Given the description of an element on the screen output the (x, y) to click on. 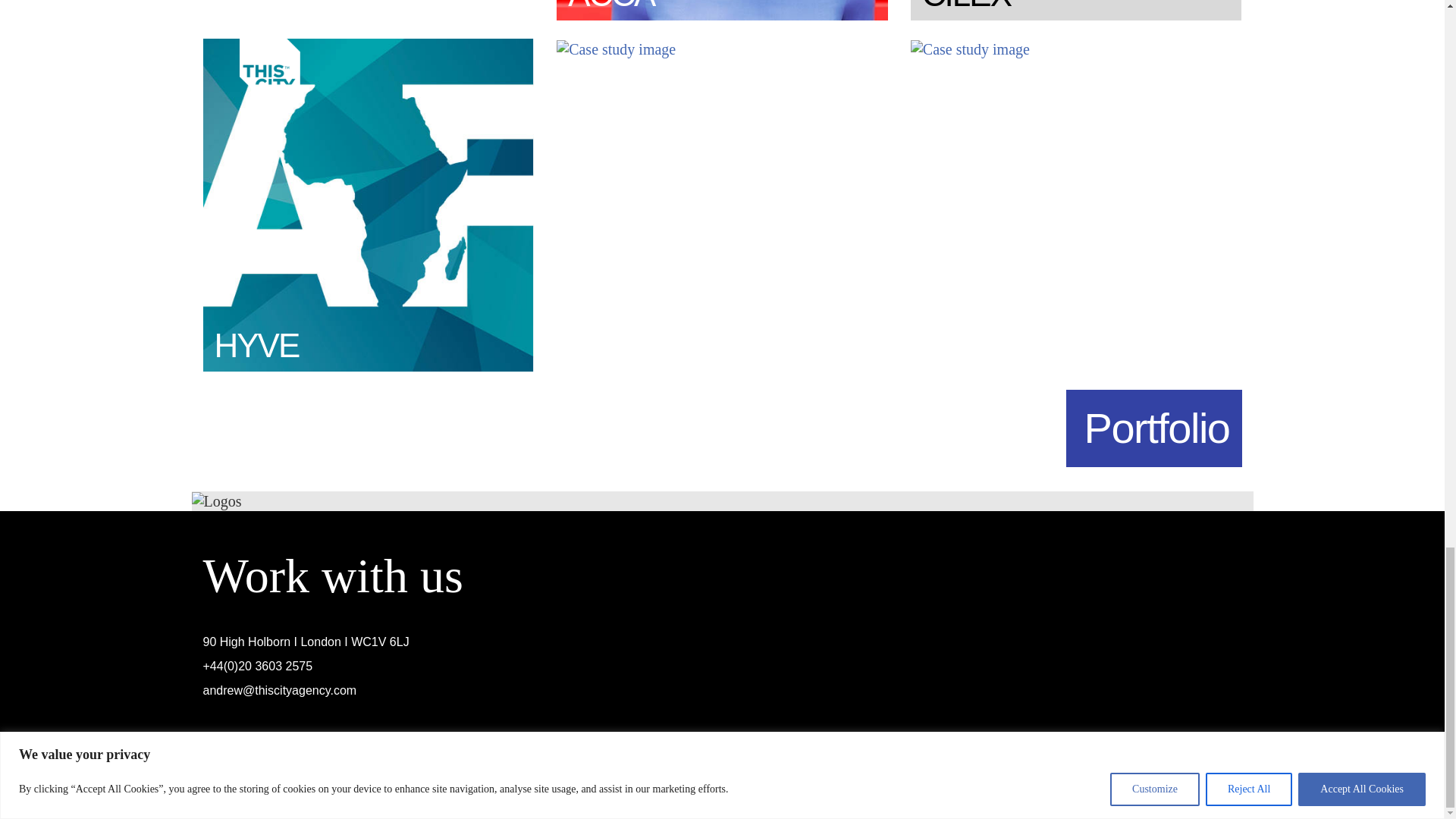
Cookie Policy (399, 777)
Privacy Policy (268, 777)
KELP (615, 47)
METLIFE (970, 47)
Portfolio (1153, 427)
Linkedin (1218, 758)
HYVE (368, 202)
